Given the description of an element on the screen output the (x, y) to click on. 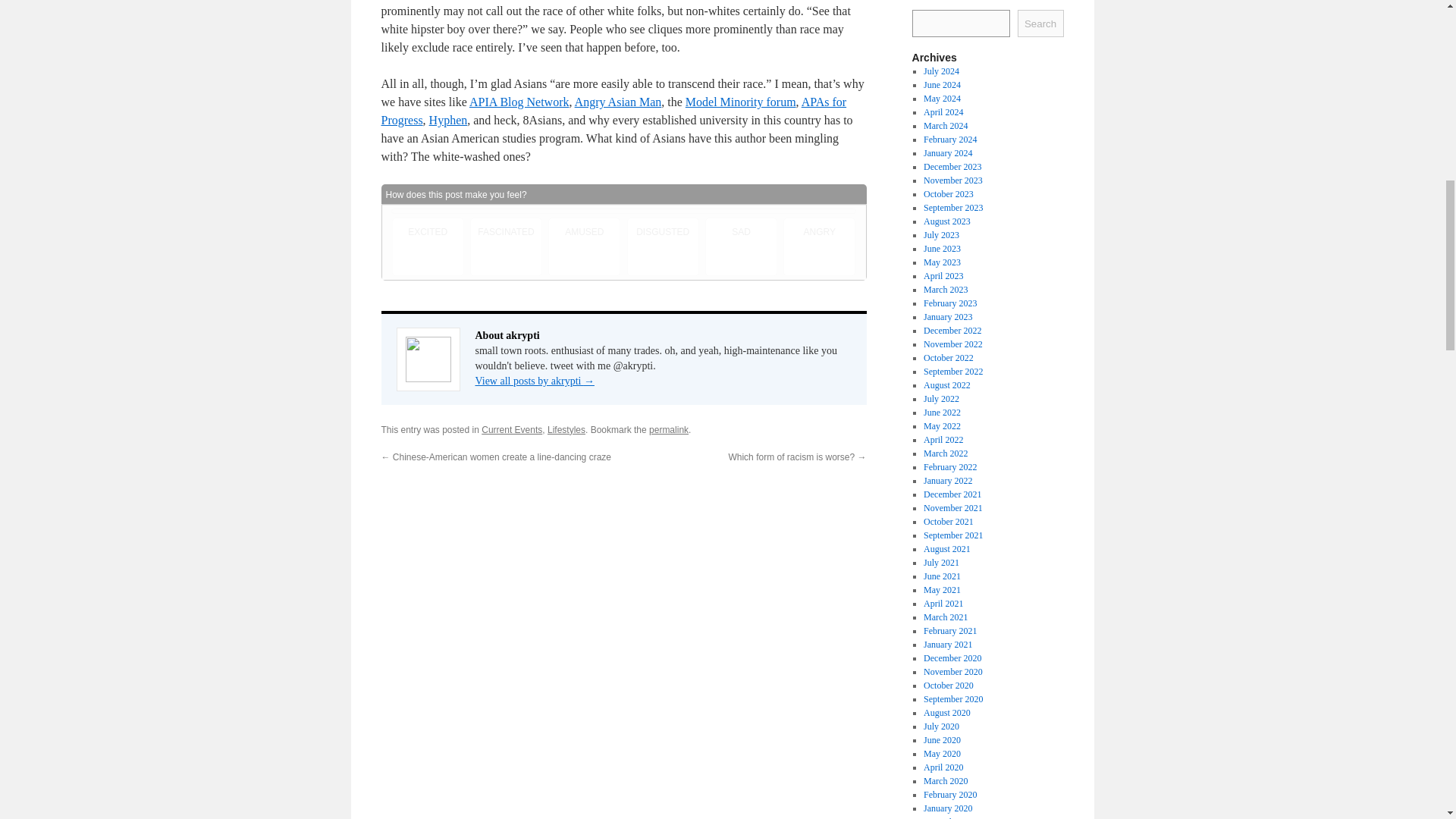
APIA Blog Network (518, 101)
Hyphen (448, 119)
permalink (668, 429)
Angry Asian Man (618, 101)
Lifestyles (566, 429)
Current Events (511, 429)
APAs for Progress (612, 110)
Model Minority forum (740, 101)
